Given the description of an element on the screen output the (x, y) to click on. 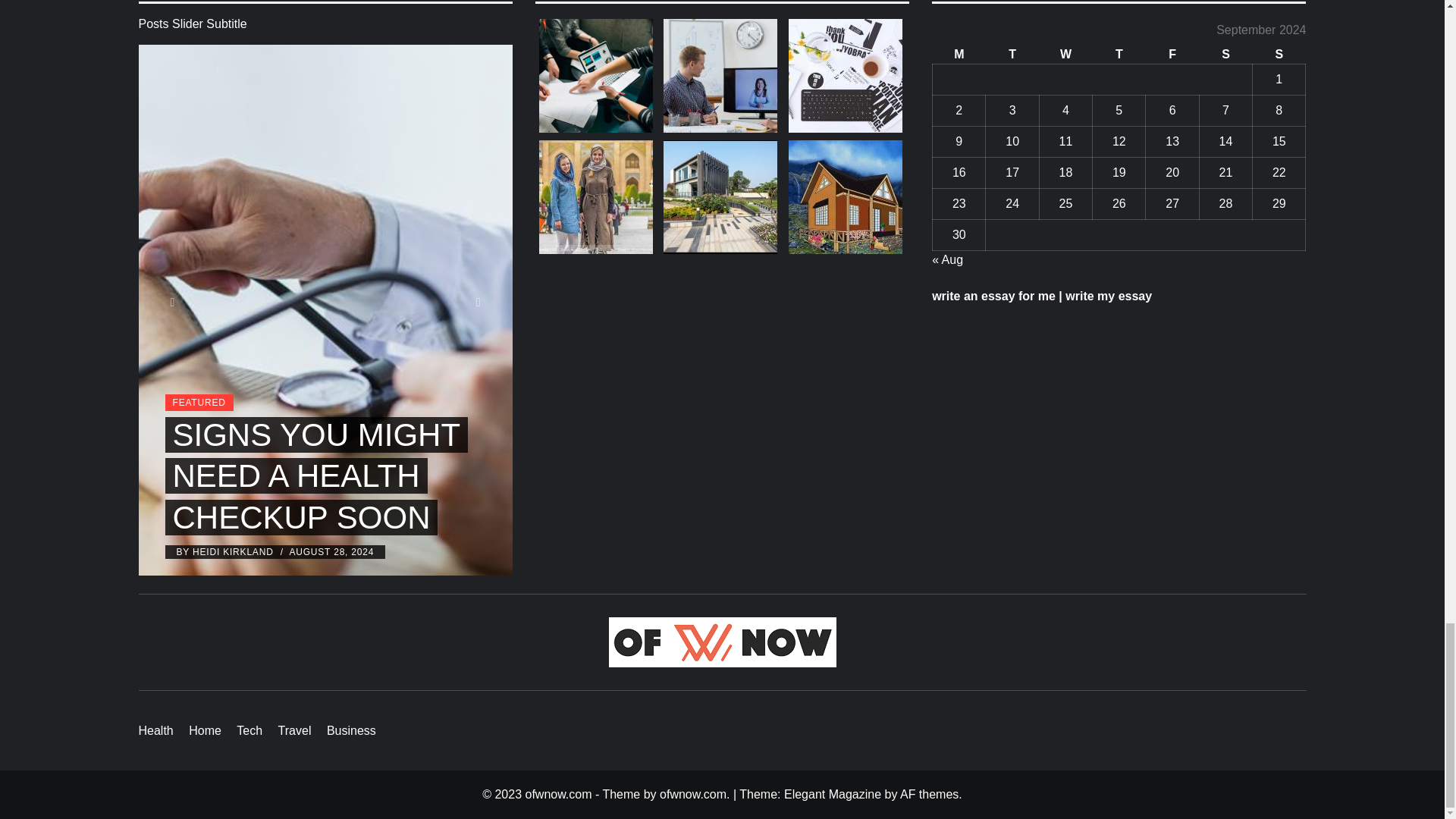
Saturday (1225, 54)
Sunday (1279, 54)
Monday (959, 54)
Wednesday (1065, 54)
Tuesday (1012, 54)
Friday (1171, 54)
Thursday (1119, 54)
